Given the description of an element on the screen output the (x, y) to click on. 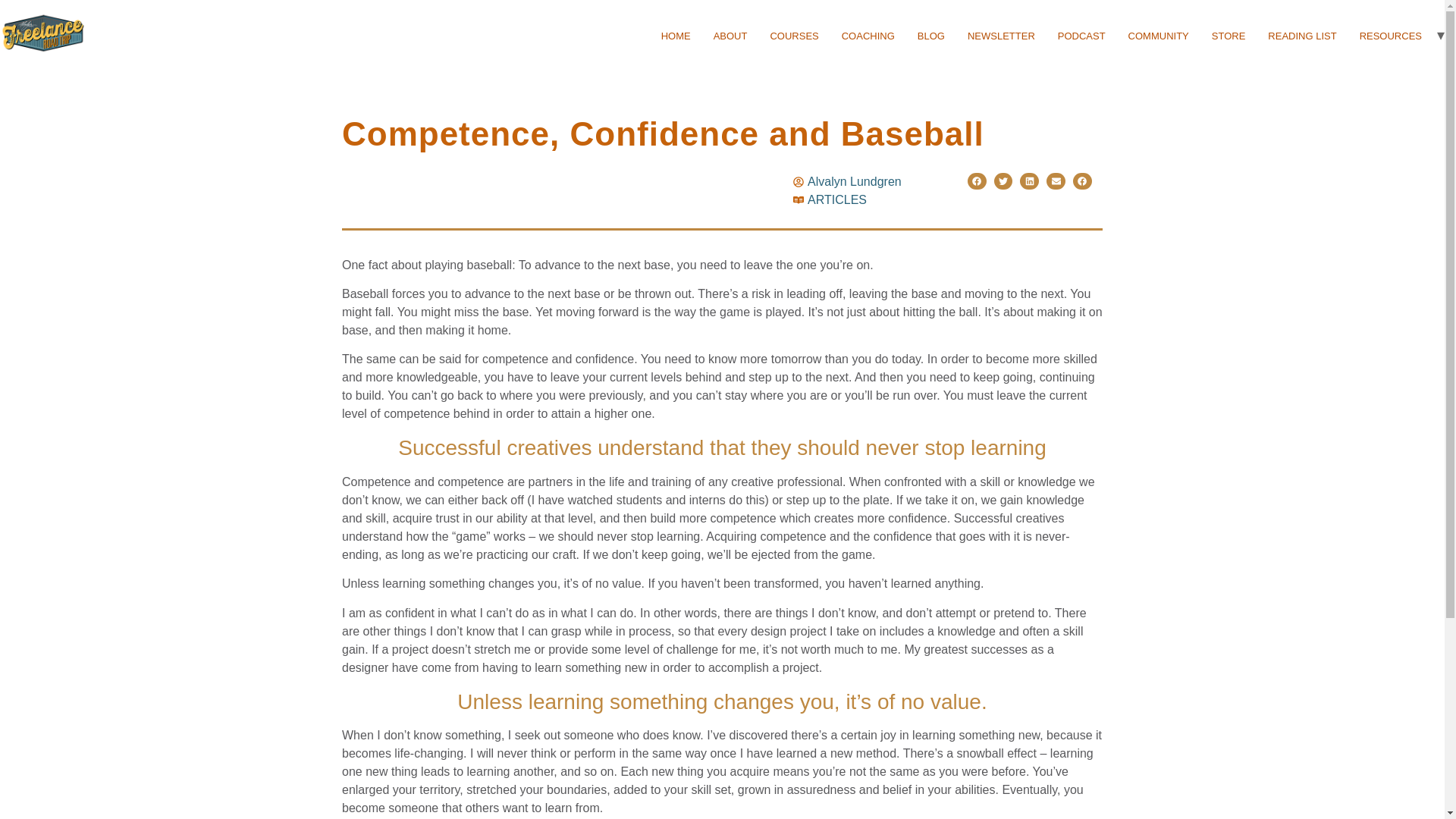
COACHING (867, 35)
PODCAST (1081, 35)
STORE (1228, 35)
HOME (675, 35)
ABOUT (729, 35)
COURSES (793, 35)
BLOG (930, 35)
RESOURCES (1390, 35)
READING LIST (1302, 35)
Alvalyn Lundgren (847, 181)
COMMUNITY (1157, 35)
NEWSLETTER (1001, 35)
